Given the description of an element on the screen output the (x, y) to click on. 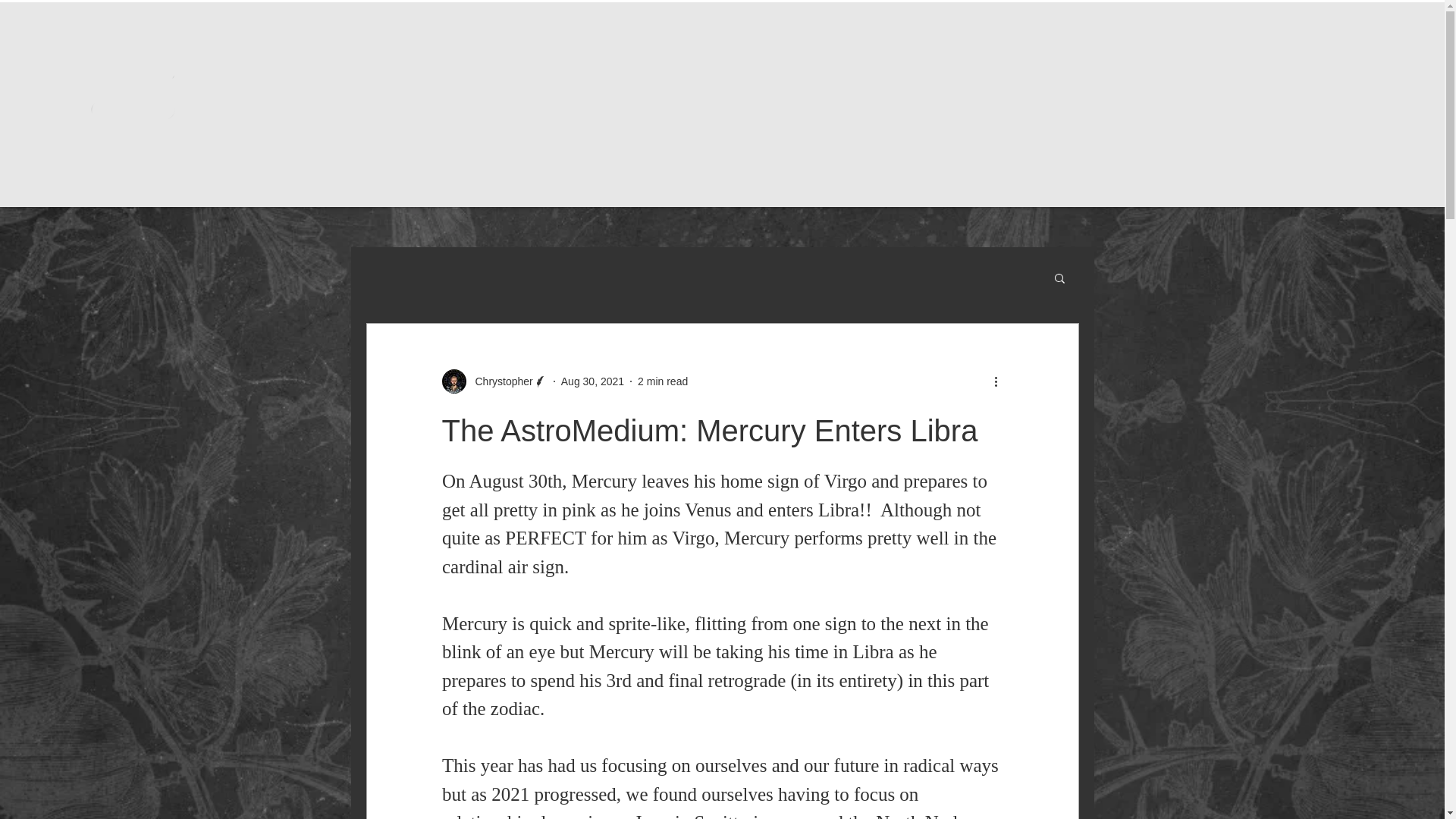
Aug 30, 2021 (592, 380)
Chrystopher (498, 381)
Chrystopher (494, 381)
2 min read (662, 380)
